Given the description of an element on the screen output the (x, y) to click on. 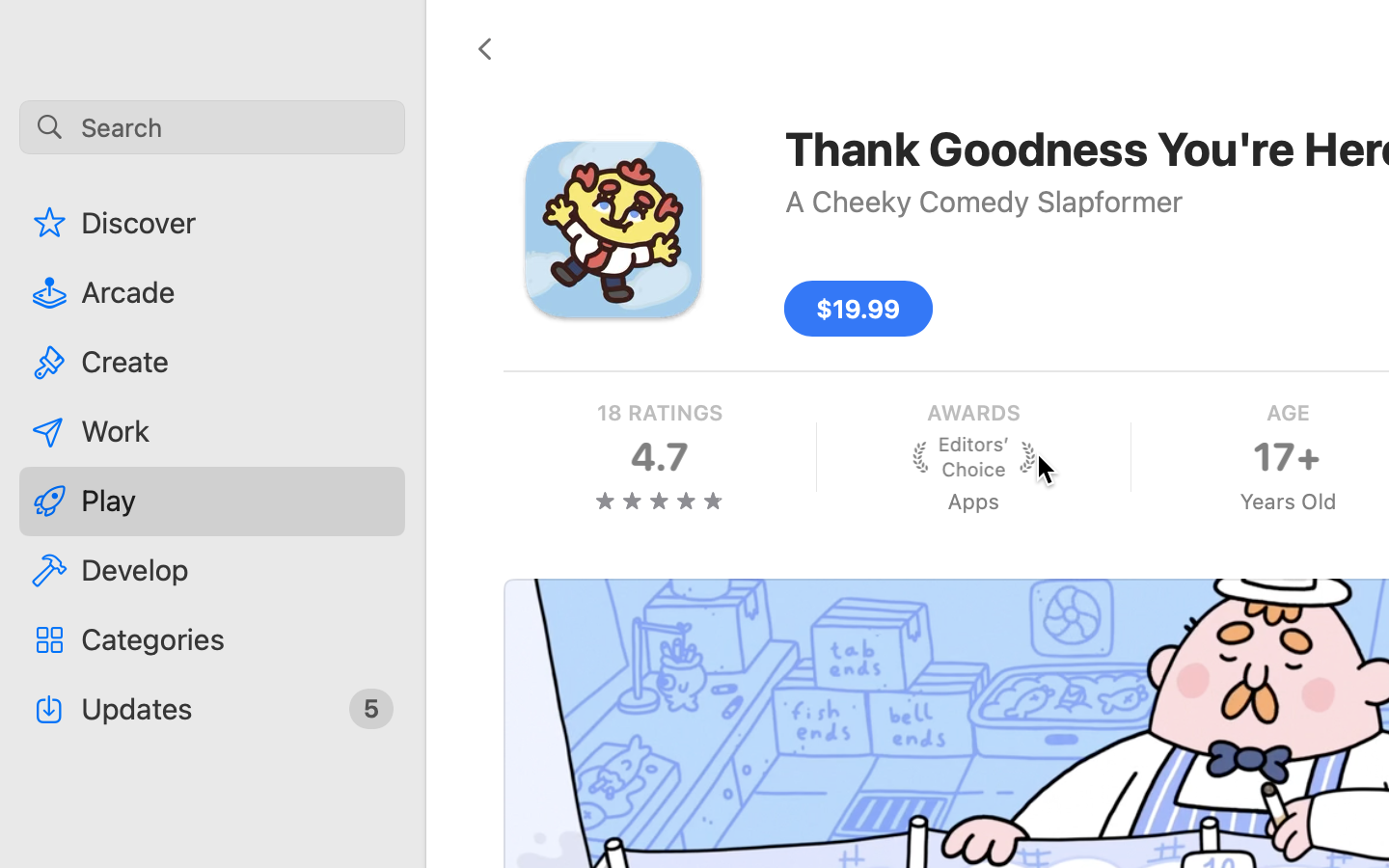
AWARDS Element type: AXStaticText (972, 412)
Apps Element type: AXStaticText (972, 501)
four and three quarters stars, 18 RATINGS, 4.7 Element type: AXStaticText (659, 456)
four and three quarters stars Element type: AXStaticText (659, 500)
